Given the description of an element on the screen output the (x, y) to click on. 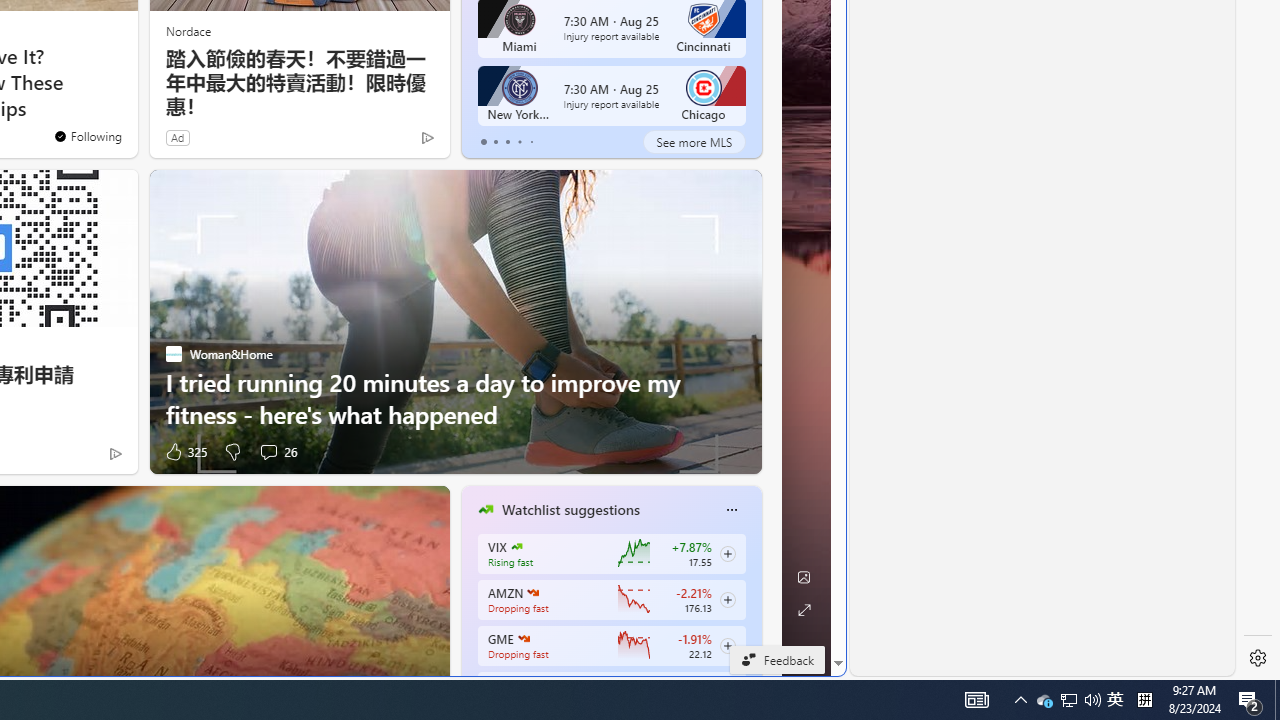
tab-4 (530, 142)
